Given the description of an element on the screen output the (x, y) to click on. 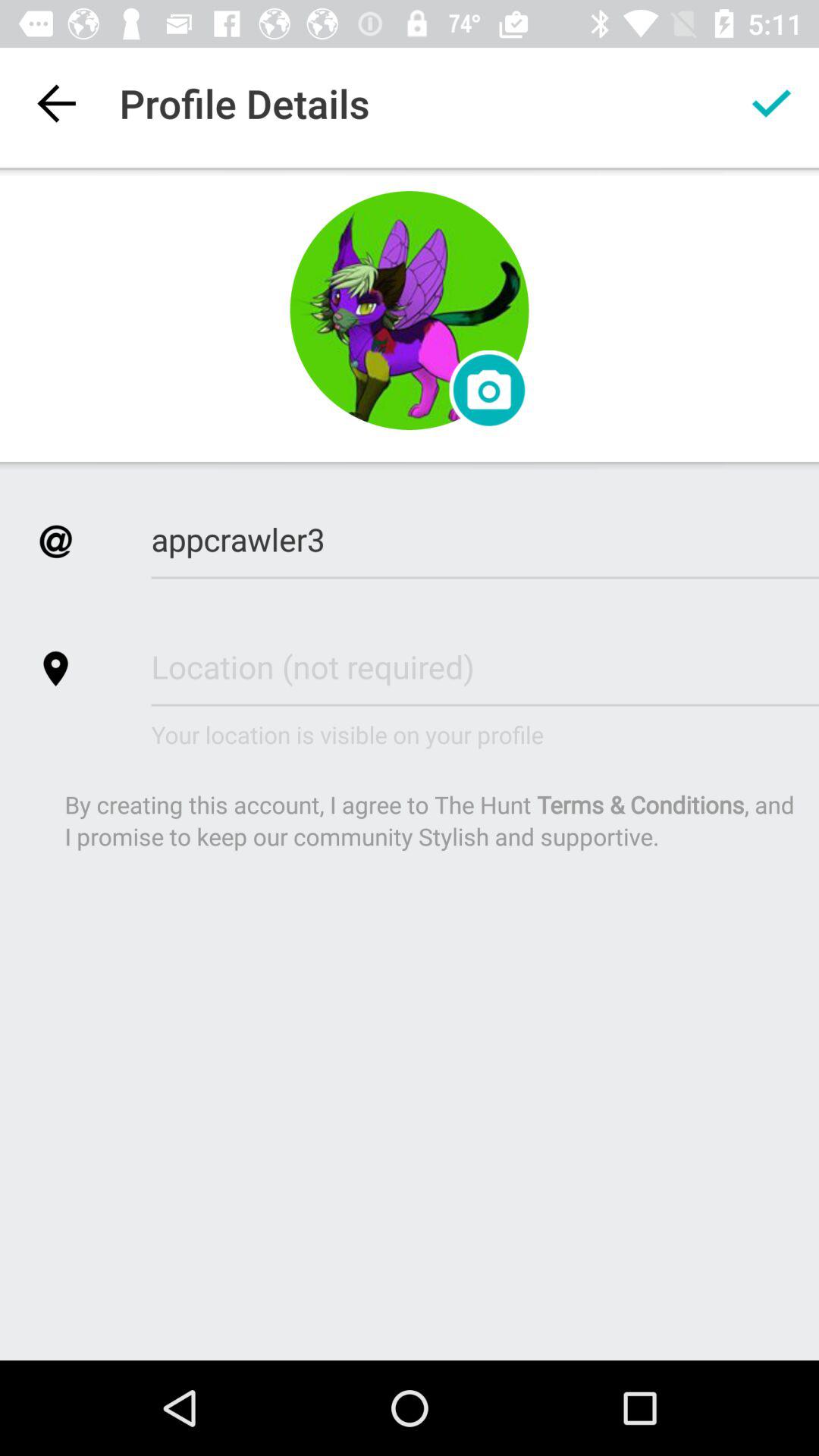
edit profile picture (409, 310)
